Given the description of an element on the screen output the (x, y) to click on. 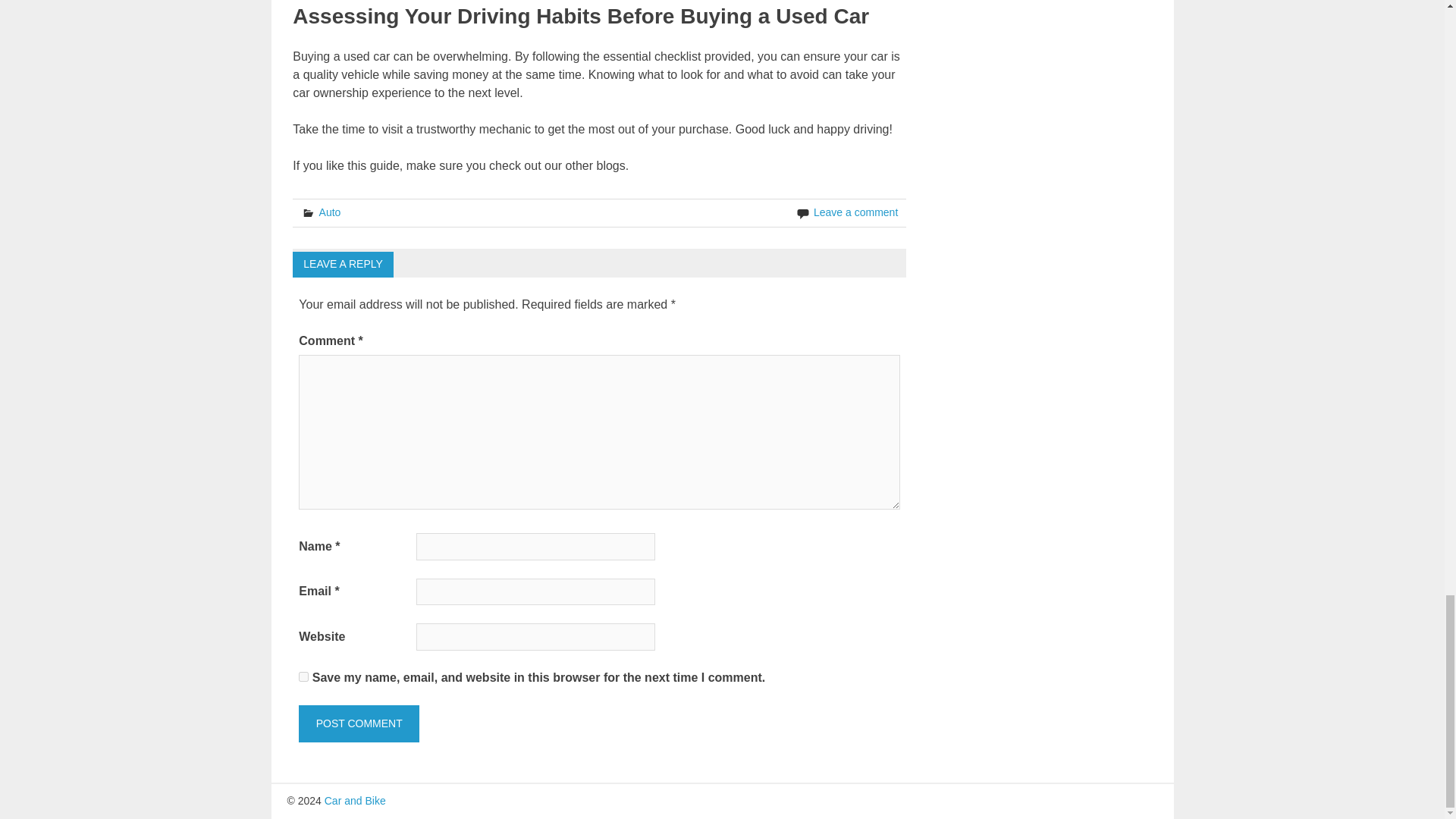
Leave a comment (855, 212)
Post Comment (358, 723)
yes (303, 676)
Auto (329, 212)
Post Comment (358, 723)
Car and Bike (354, 800)
